Given the description of an element on the screen output the (x, y) to click on. 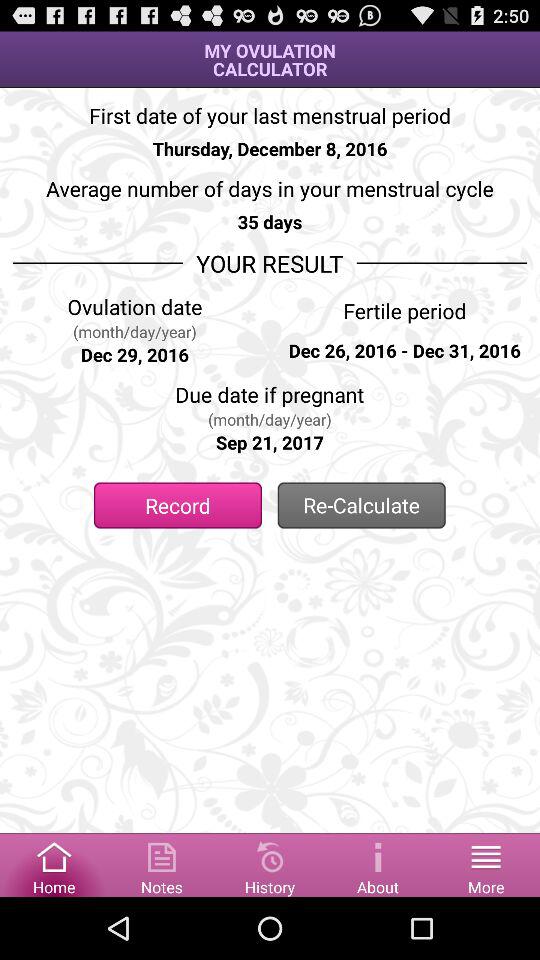
home button (54, 864)
